Given the description of an element on the screen output the (x, y) to click on. 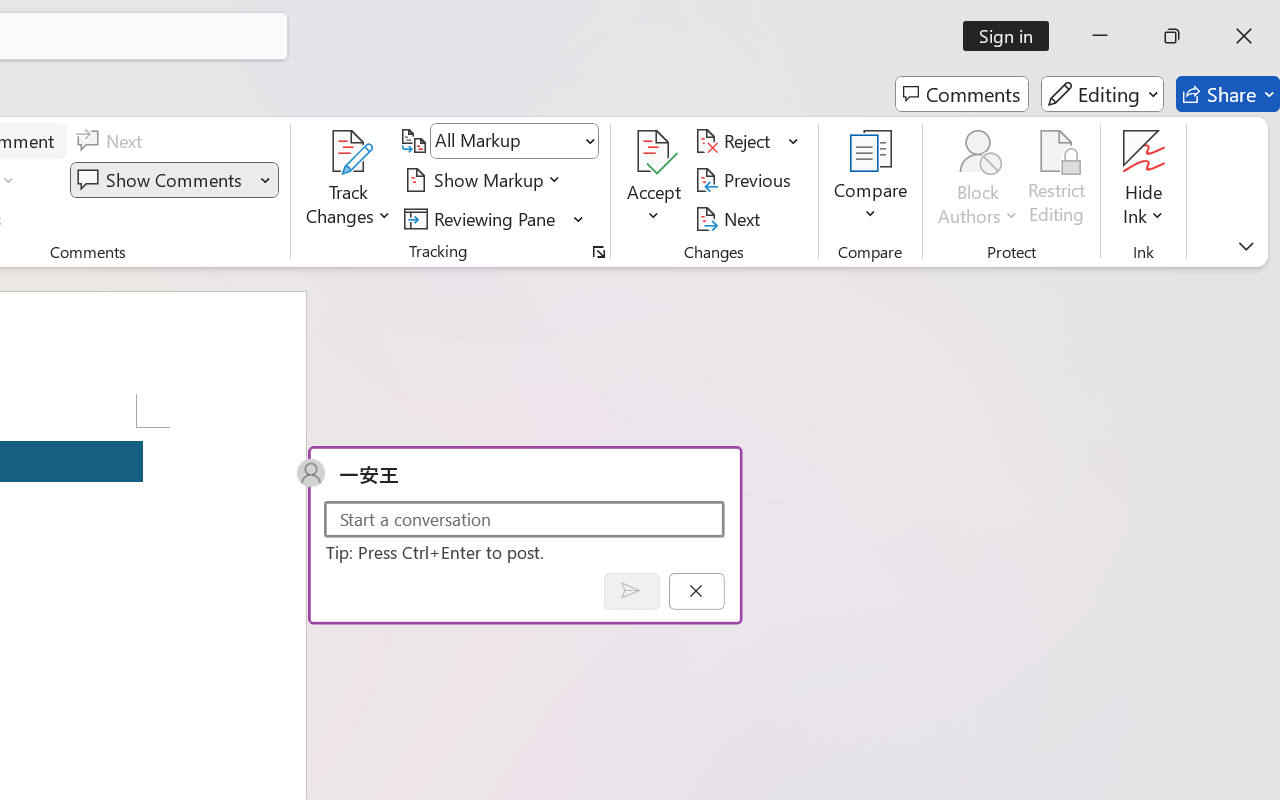
Block Authors (977, 179)
Track Changes (349, 179)
Hide Ink (1144, 179)
